Given the description of an element on the screen output the (x, y) to click on. 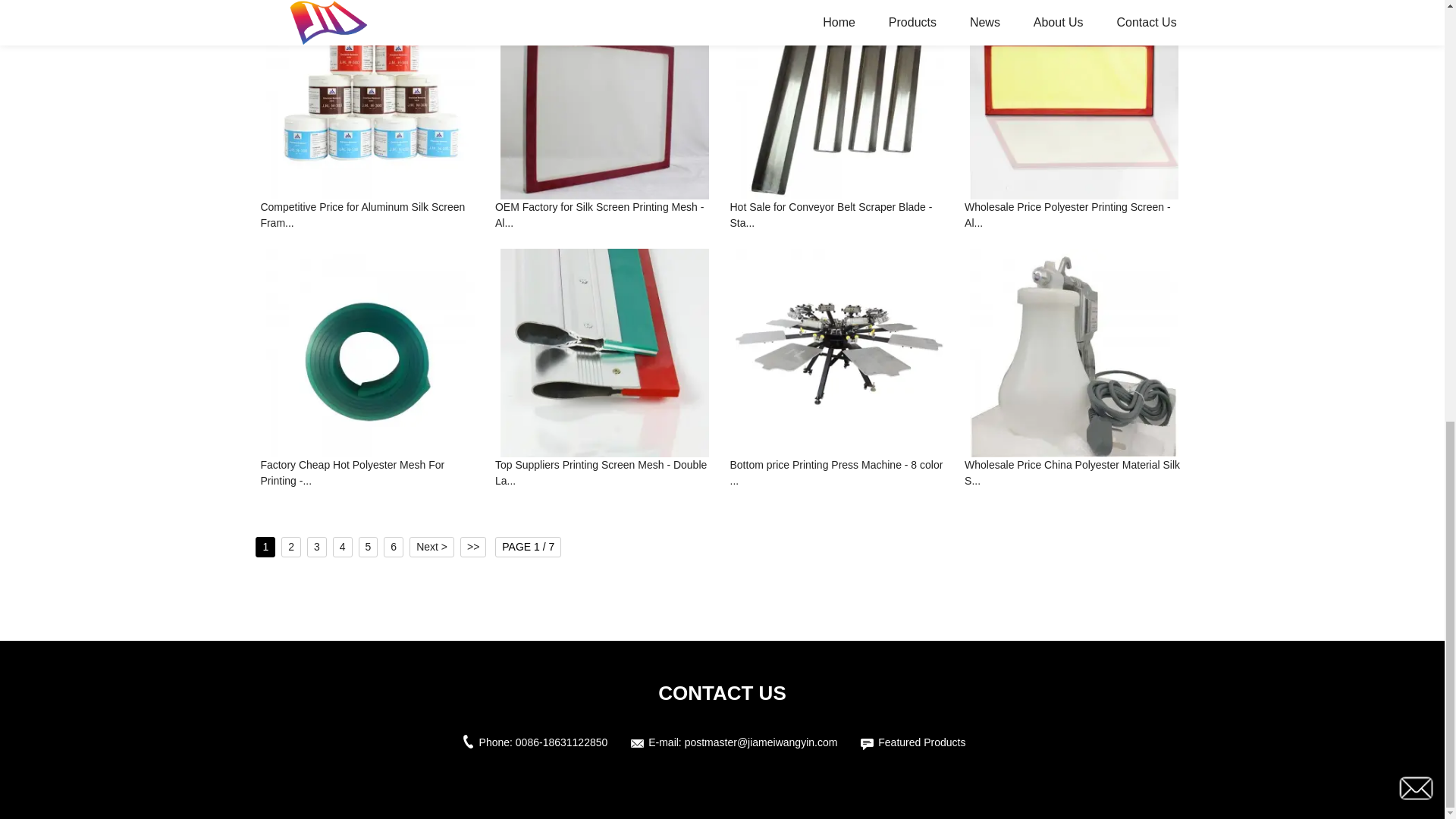
The Last Page (473, 547)
